Given the description of an element on the screen output the (x, y) to click on. 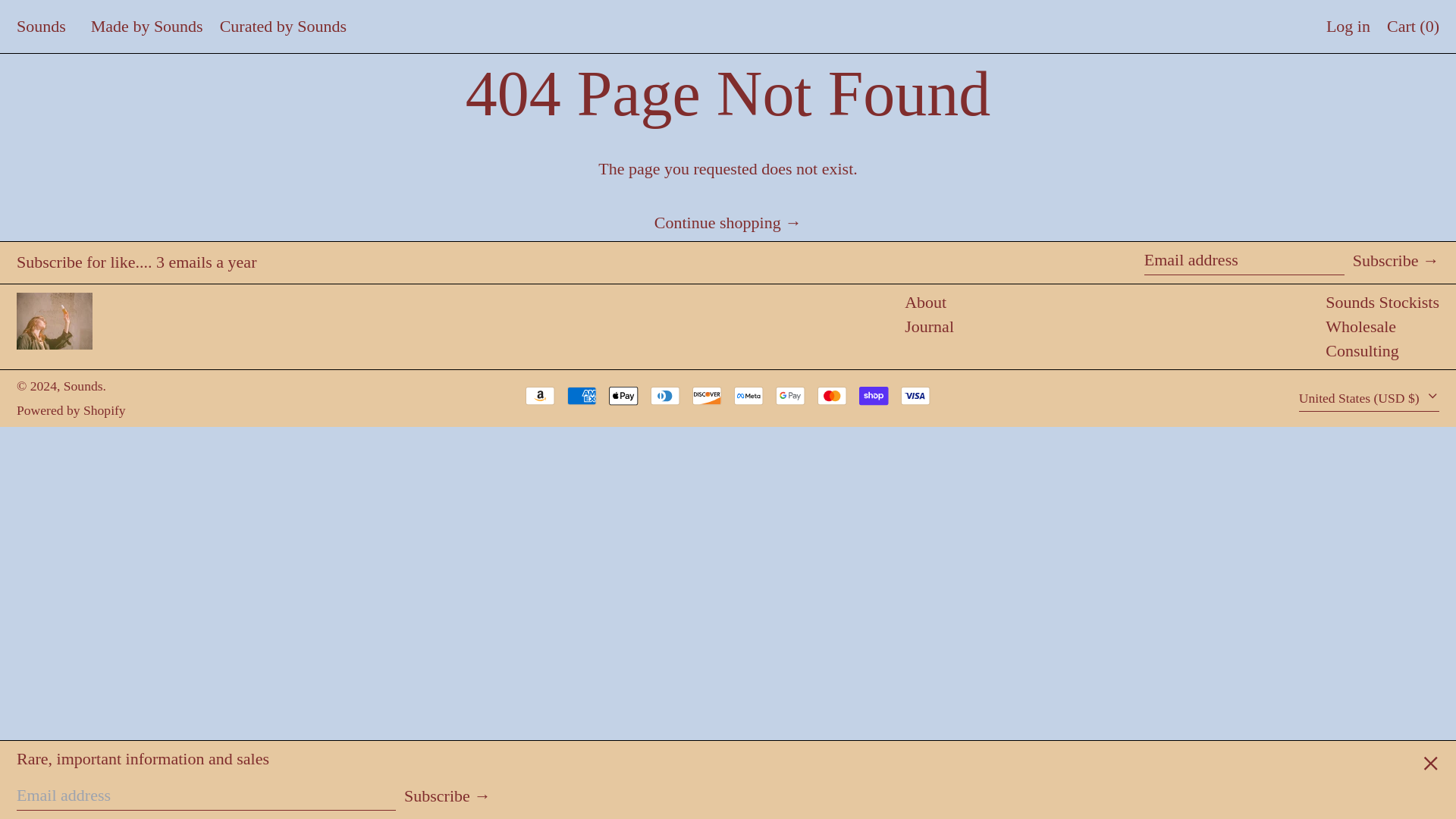
Log in (1348, 26)
Curated by Sounds (282, 26)
Sounds (40, 26)
Sounds Stockists (1381, 302)
Consulting (1361, 350)
Wholesale (1360, 325)
Made by Sounds (146, 26)
Sounds (83, 385)
About (925, 302)
Powered by Shopify (70, 409)
